Given the description of an element on the screen output the (x, y) to click on. 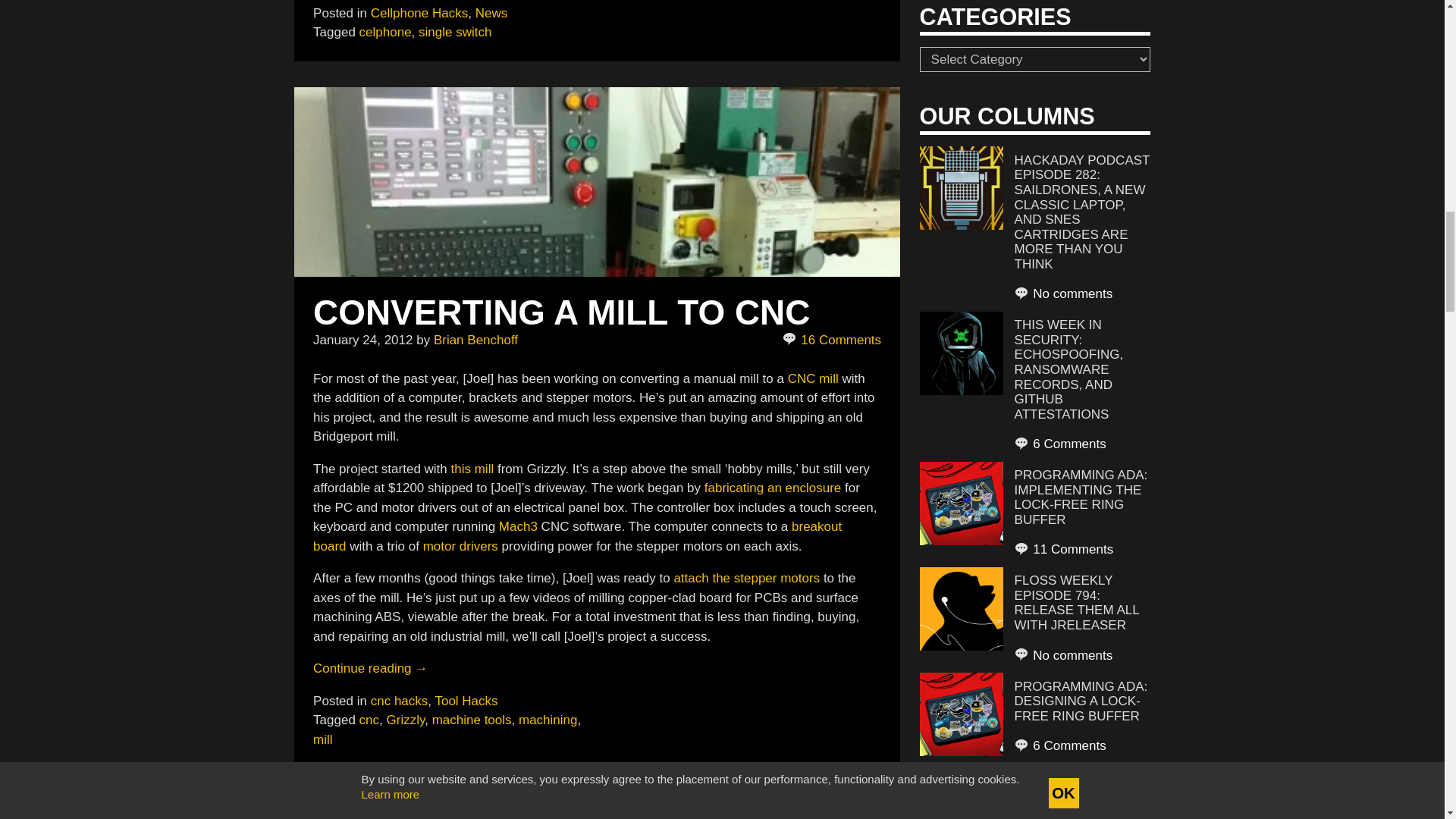
Posts by Brian Benchoff (475, 339)
Brian Benchoff (475, 339)
News (492, 12)
16 Comments (832, 340)
January 24, 2012 - 12:01 pm (362, 339)
CNC mill (812, 378)
CONVERTING A MILL TO CNC (561, 312)
single switch (455, 32)
this mill (473, 468)
Cellphone Hacks (419, 12)
January 24, 2012 (362, 339)
celphone (385, 32)
